Given the description of an element on the screen output the (x, y) to click on. 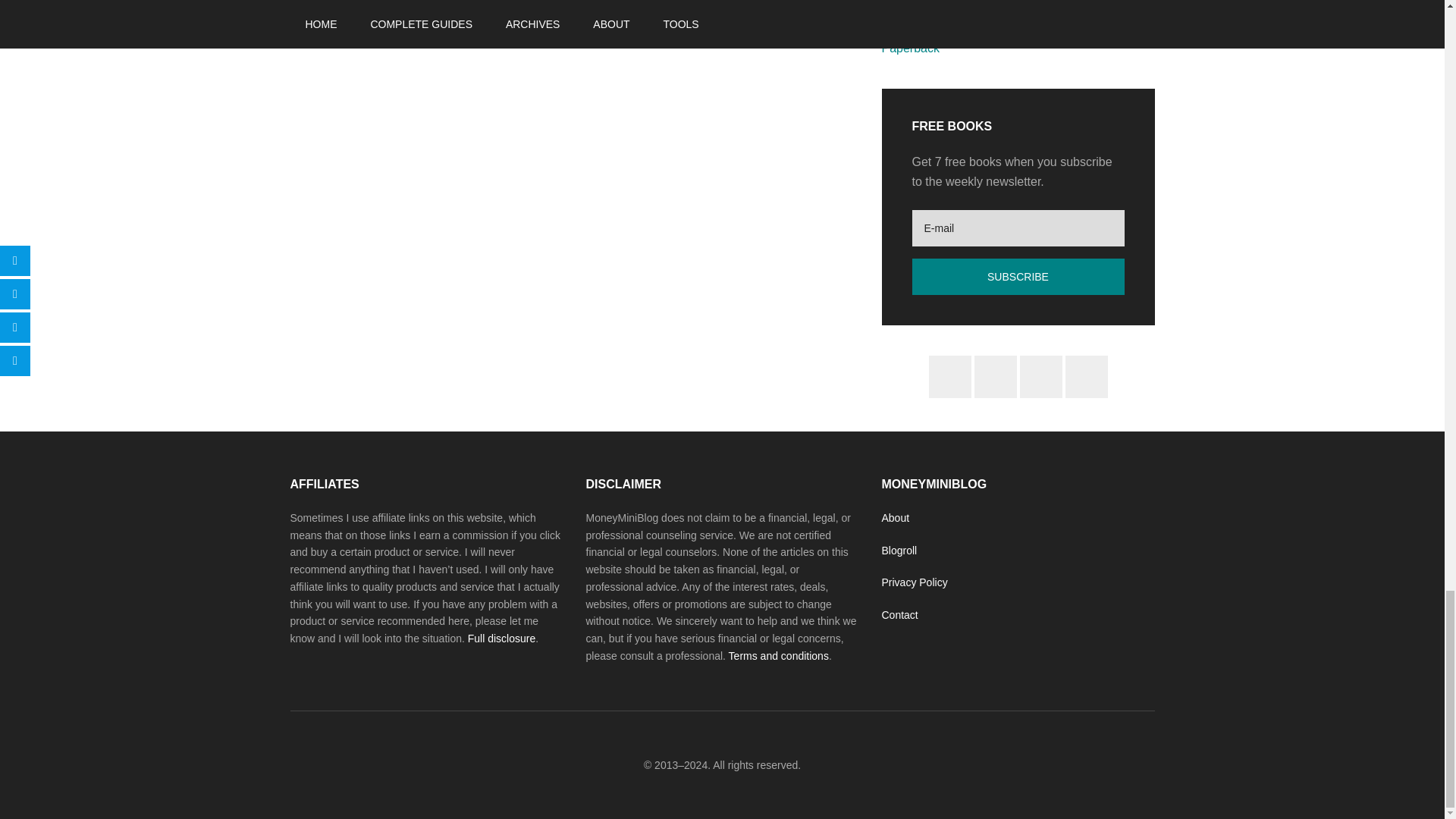
Subscribe (1017, 276)
